Given the description of an element on the screen output the (x, y) to click on. 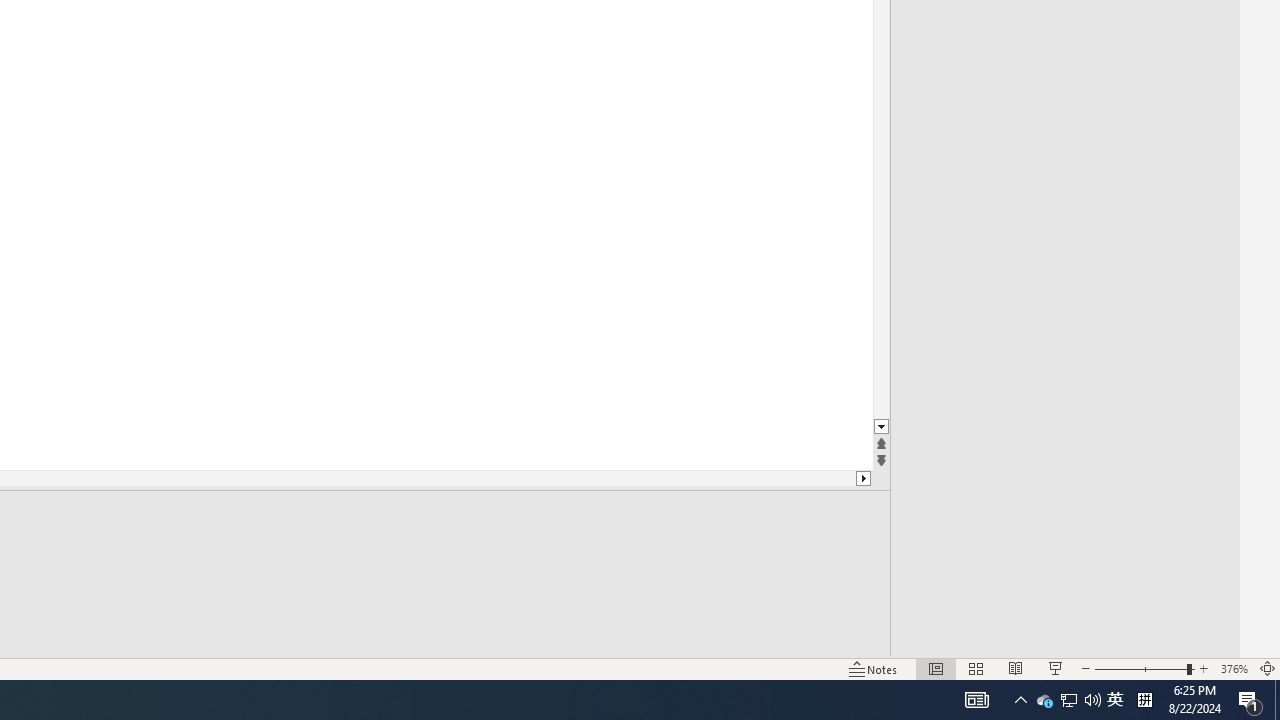
Zoom 376% (1234, 668)
